Given the description of an element on the screen output the (x, y) to click on. 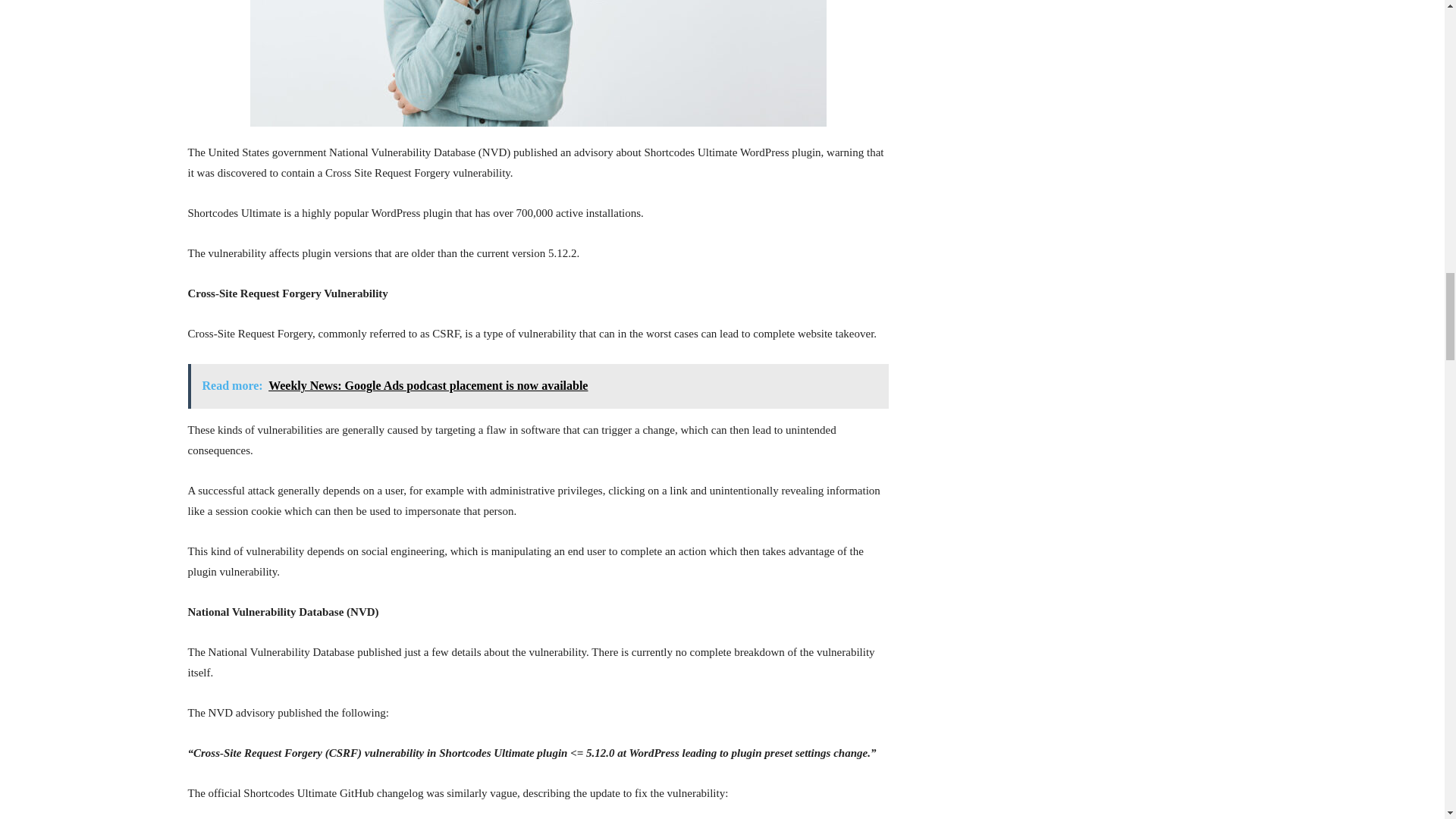
Weekly News: TikTok Planning On Opening Warehouses In U.S. 2 (538, 63)
